Given the description of an element on the screen output the (x, y) to click on. 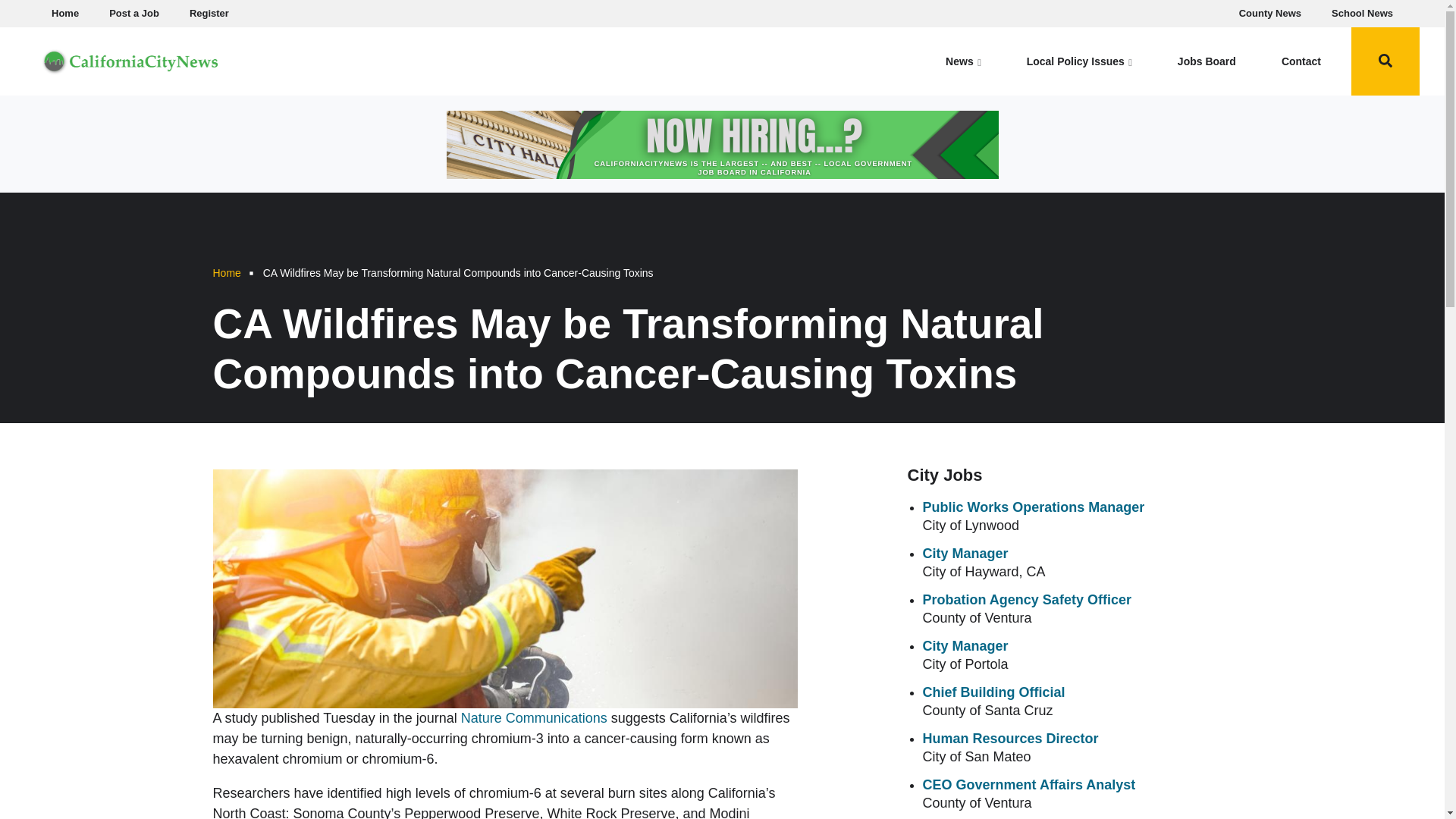
School News (1361, 13)
Home (64, 13)
Home (130, 59)
Nature Communications (534, 717)
Register (208, 13)
Home (226, 272)
County News (1269, 13)
Post a Job (134, 13)
Jobs Board (1206, 61)
